Given the description of an element on the screen output the (x, y) to click on. 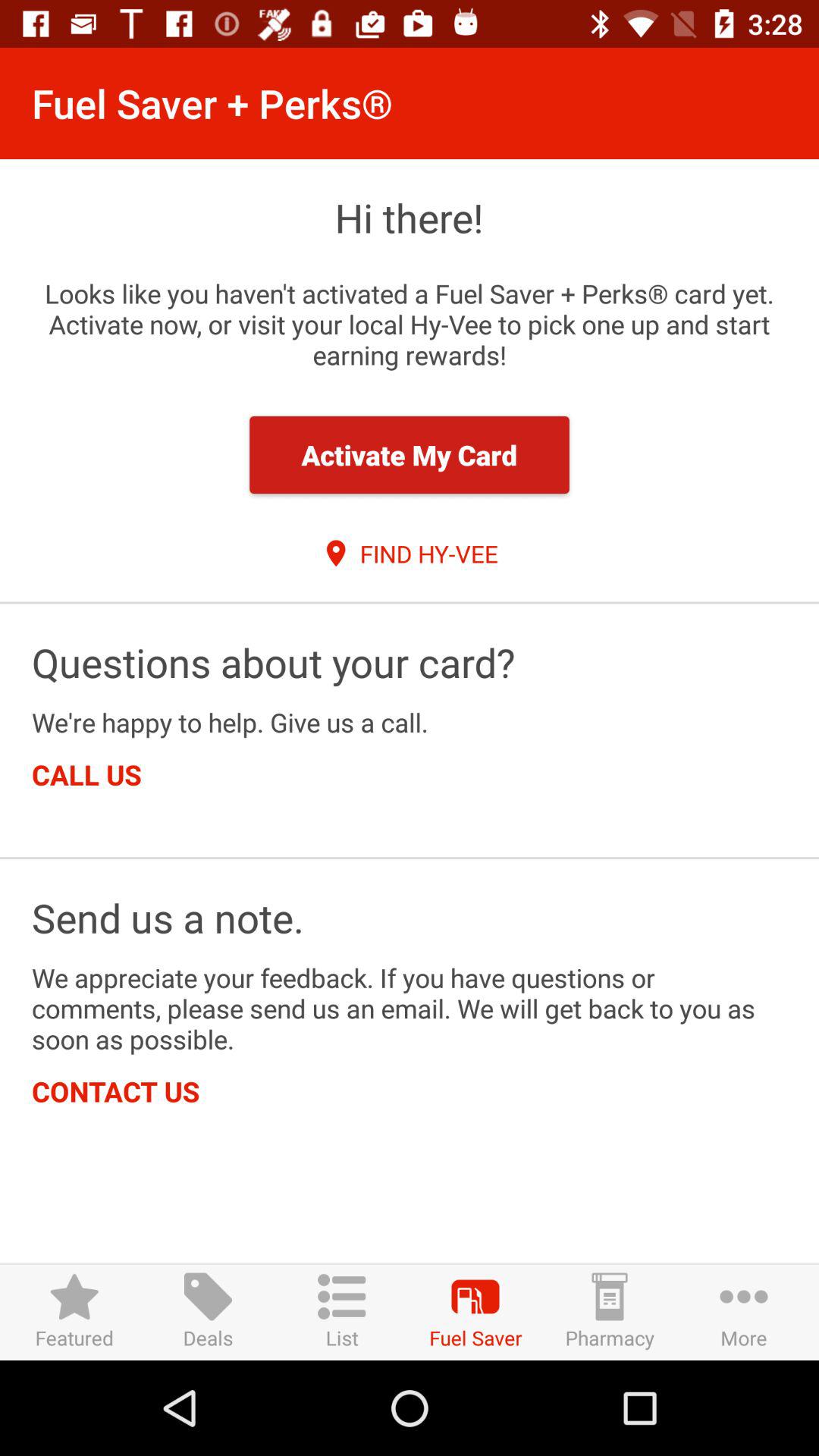
launch item to the right of the featured icon (208, 1311)
